Given the description of an element on the screen output the (x, y) to click on. 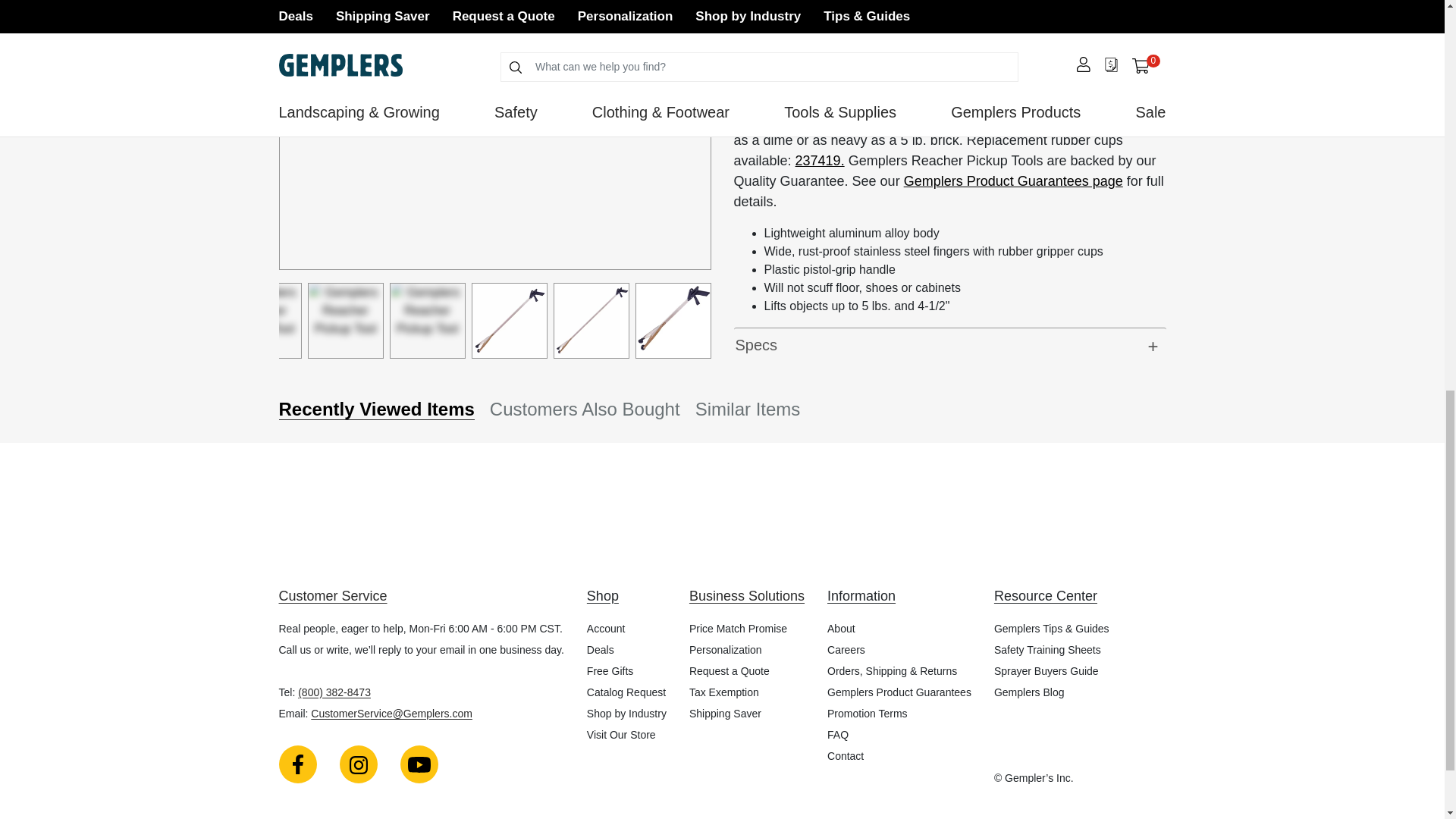
Facebook (298, 763)
tel:8003828473 (334, 692)
Youtube (419, 763)
Instagram (358, 763)
